Given the description of an element on the screen output the (x, y) to click on. 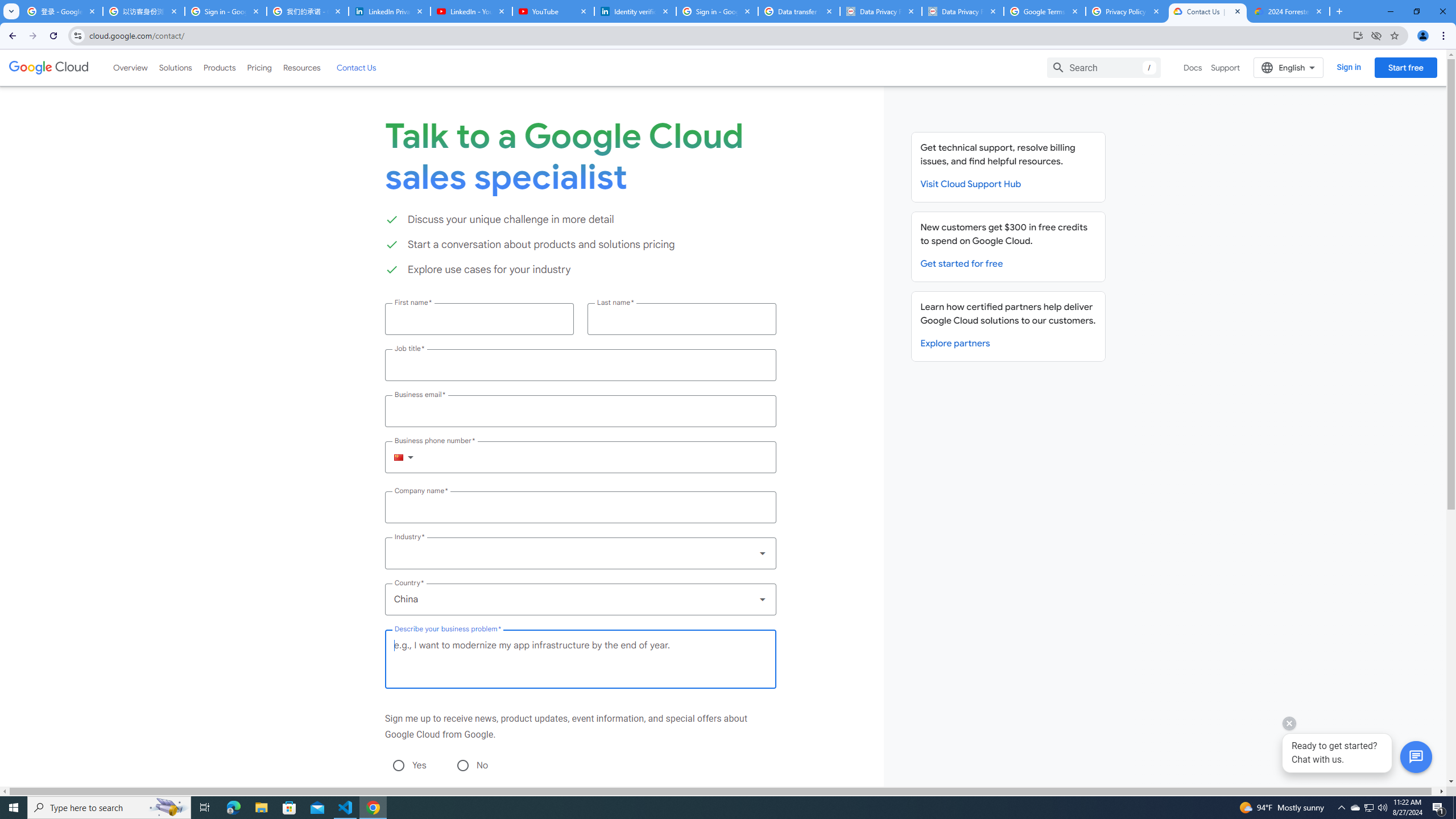
Install Google Cloud (1358, 35)
Country * (580, 599)
Solutions (175, 67)
Industry * (580, 553)
